Given the description of an element on the screen output the (x, y) to click on. 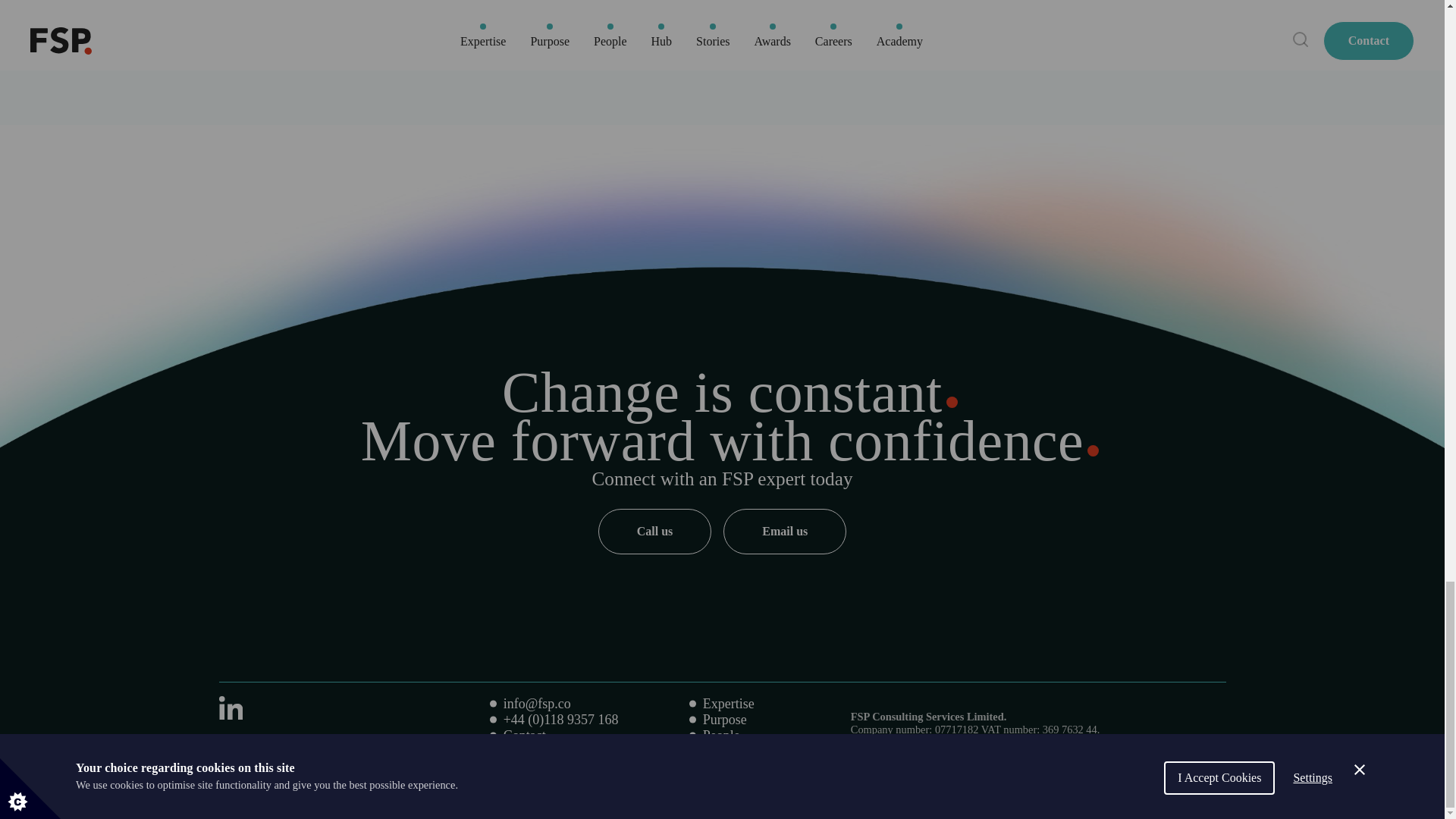
Contact (524, 735)
EllisJames (359, 744)
Careers (523, 751)
Call us (654, 531)
Email us (784, 531)
